Given the description of an element on the screen output the (x, y) to click on. 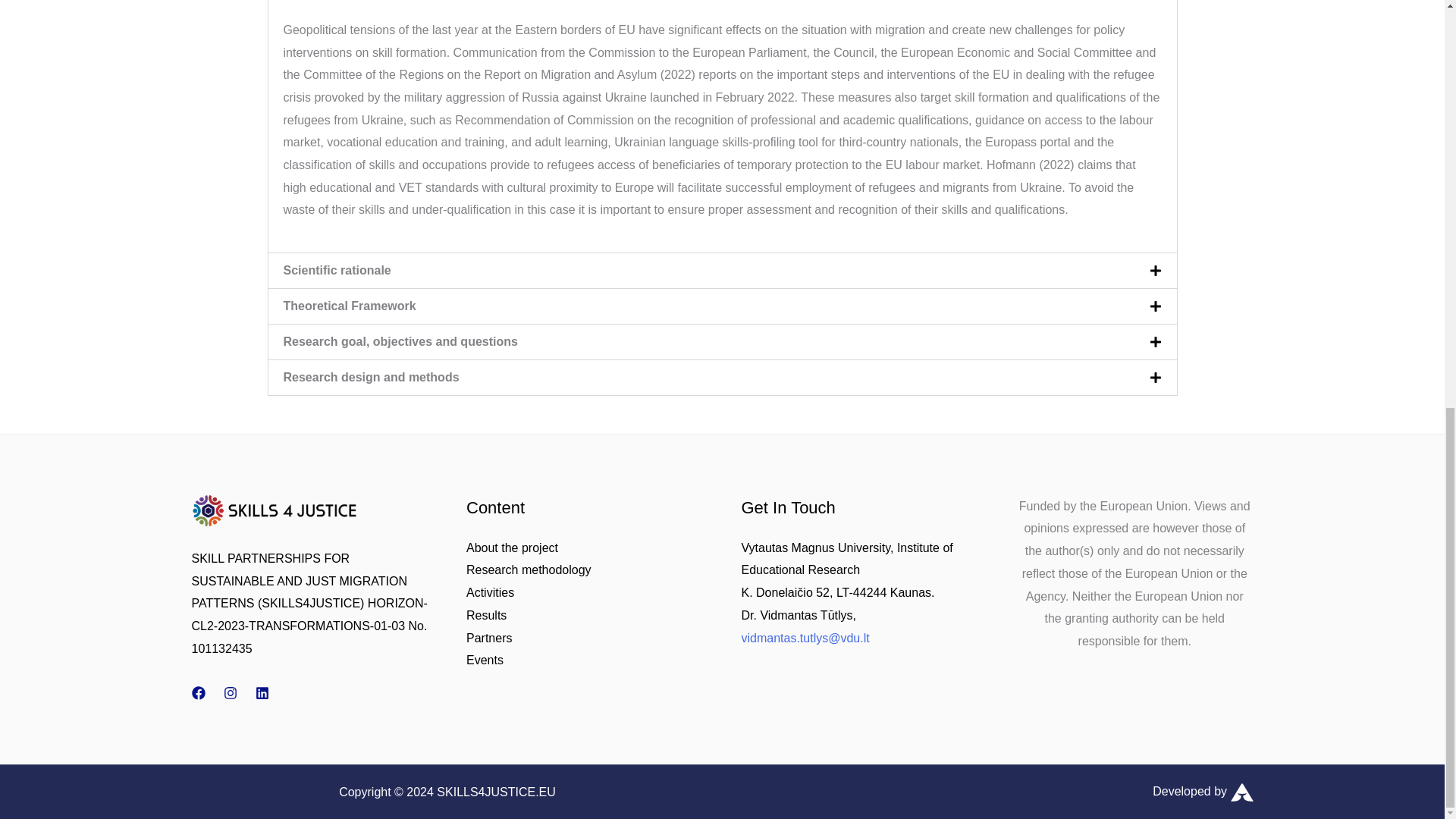
Events (484, 659)
Partners (488, 637)
About the project (511, 547)
Research methodology (528, 569)
Research goal, objectives and questions (400, 341)
Research design and methods (371, 377)
Activities (489, 592)
Scientific rationale (337, 269)
Theoretical Framework (349, 305)
Results (485, 615)
